Given the description of an element on the screen output the (x, y) to click on. 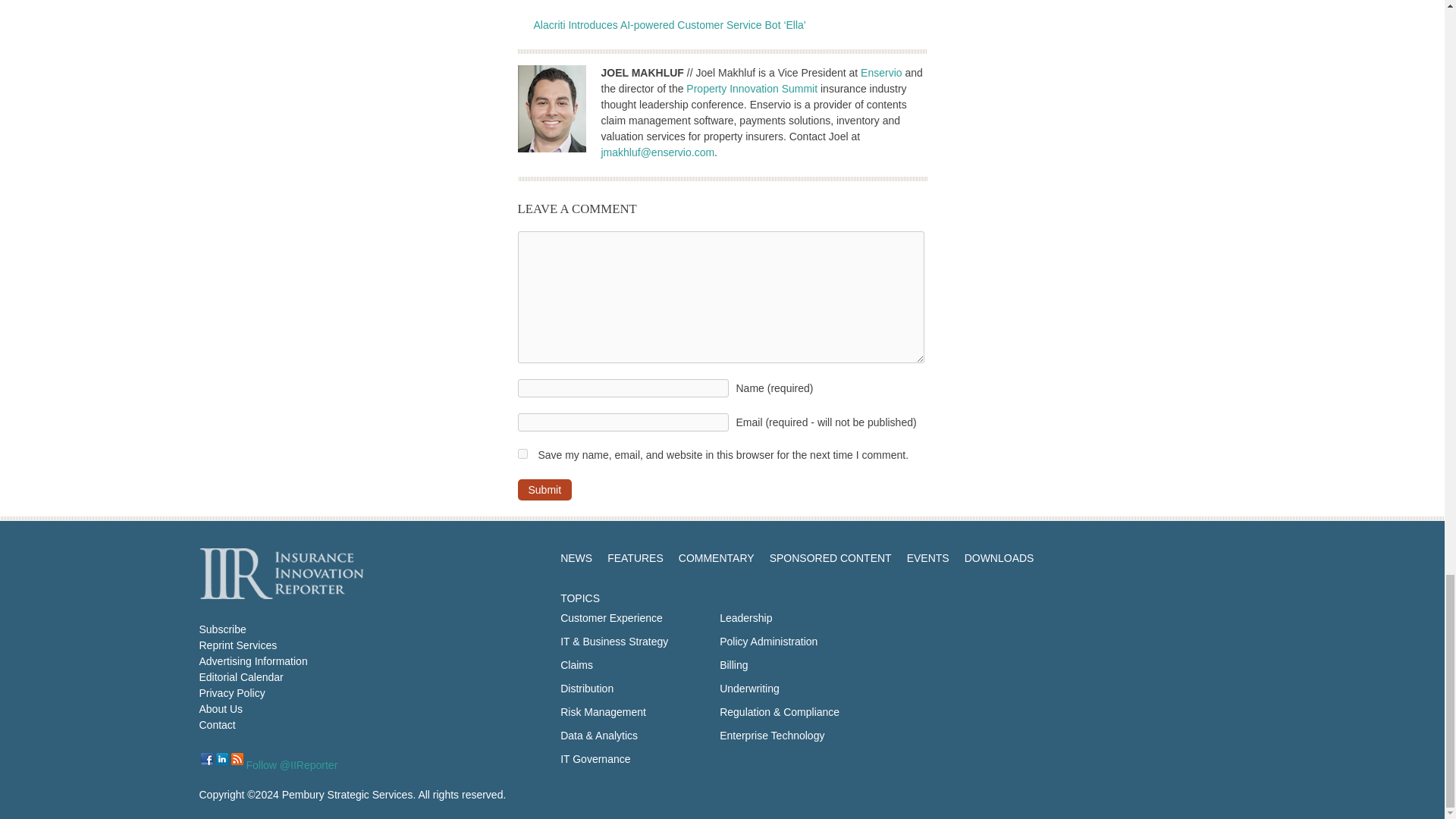
Property Innovation Summit (750, 88)
Submit (544, 489)
RSS Feed (236, 758)
Enservio (880, 72)
yes (521, 453)
Advertising Information (252, 661)
Submit (544, 489)
Friend me on Facebook (206, 758)
Reprint Services (237, 645)
Follow my company on LinkedIn (221, 758)
